Given the description of an element on the screen output the (x, y) to click on. 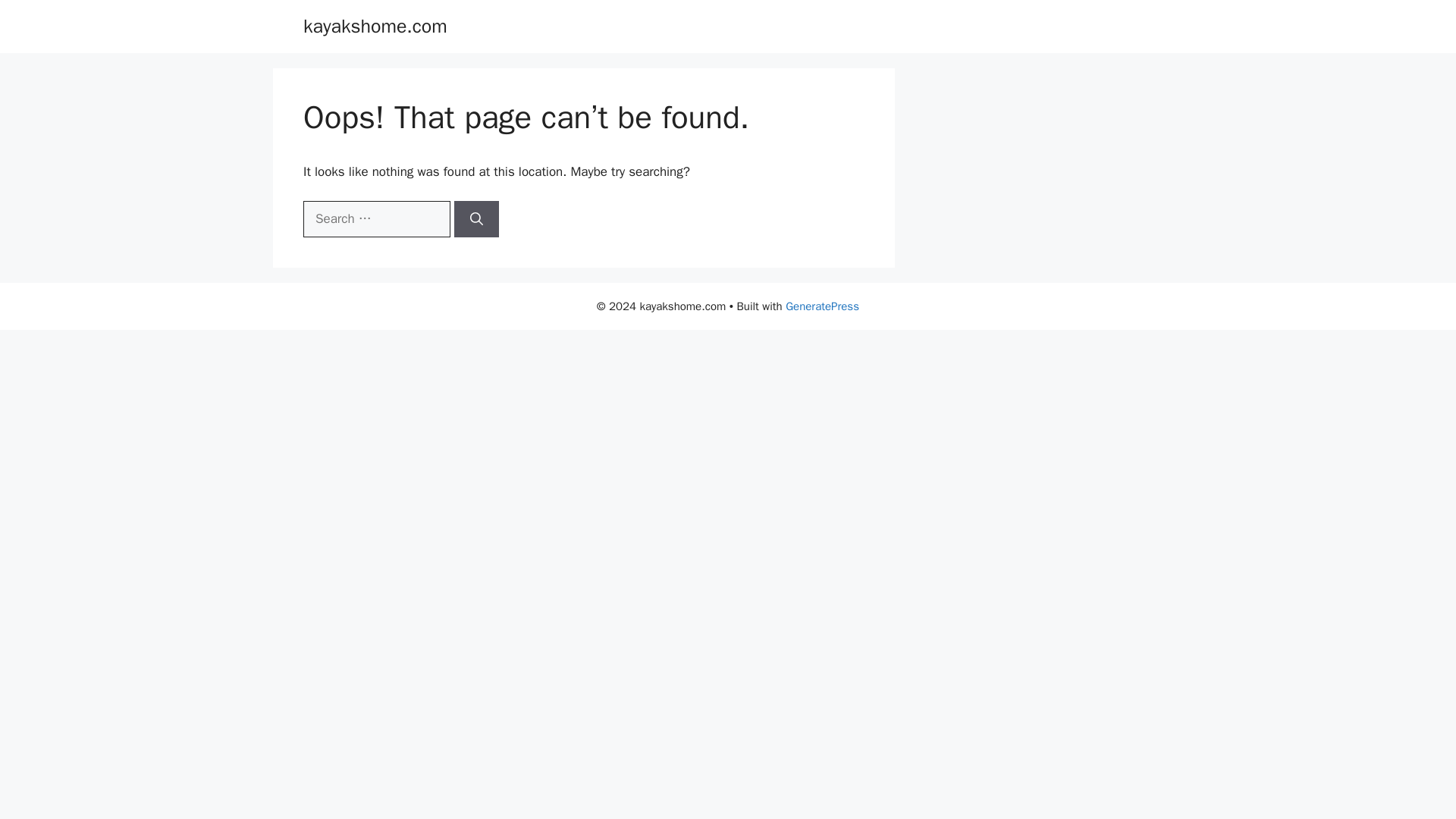
GeneratePress (822, 305)
Search for: (375, 218)
kayakshome.com (374, 25)
